Given the description of an element on the screen output the (x, y) to click on. 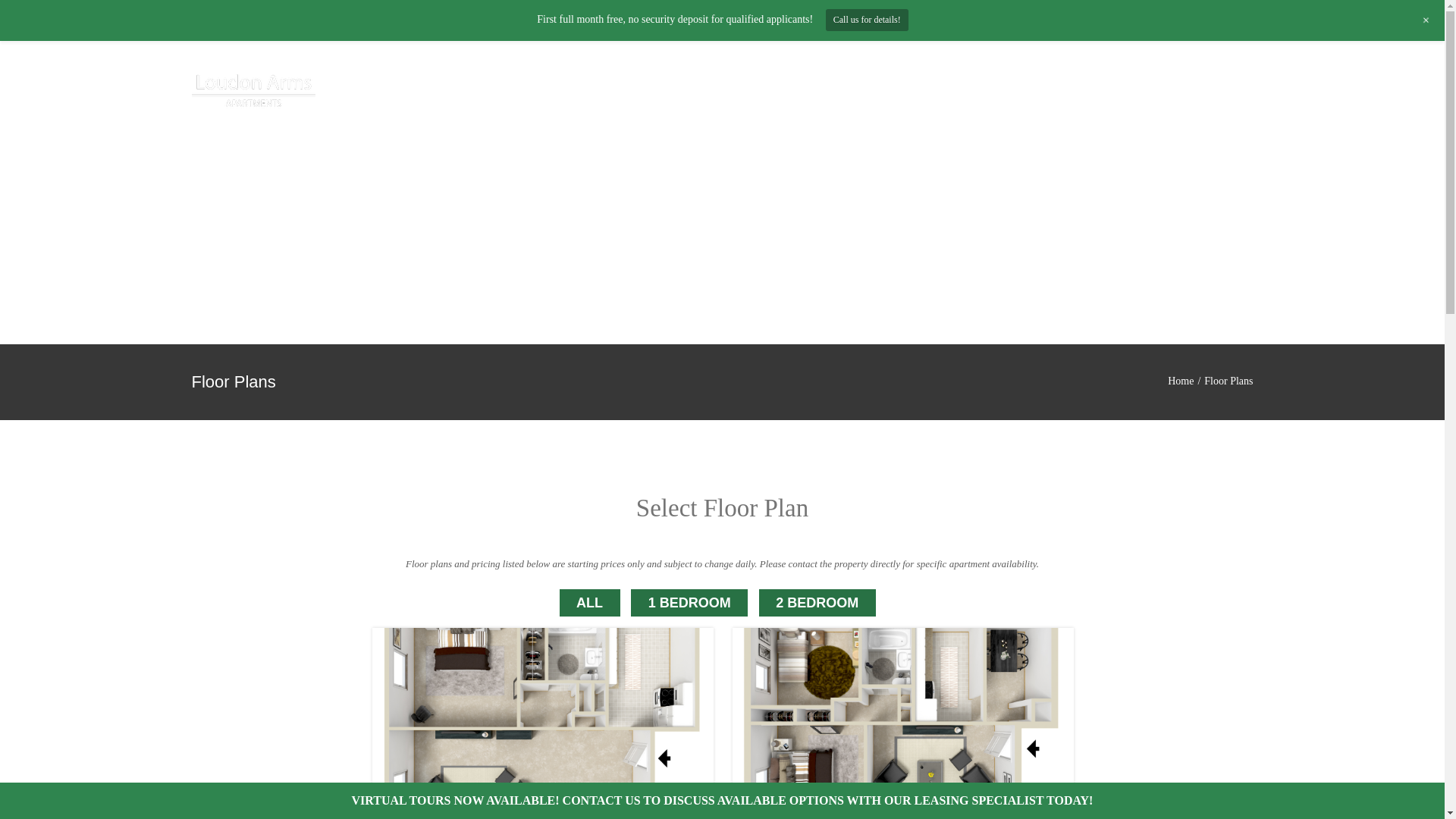
Home (1180, 380)
ALL (590, 602)
Call us for details! (866, 20)
2 BEDROOM (817, 602)
1 BEDROOM (689, 602)
